Given the description of an element on the screen output the (x, y) to click on. 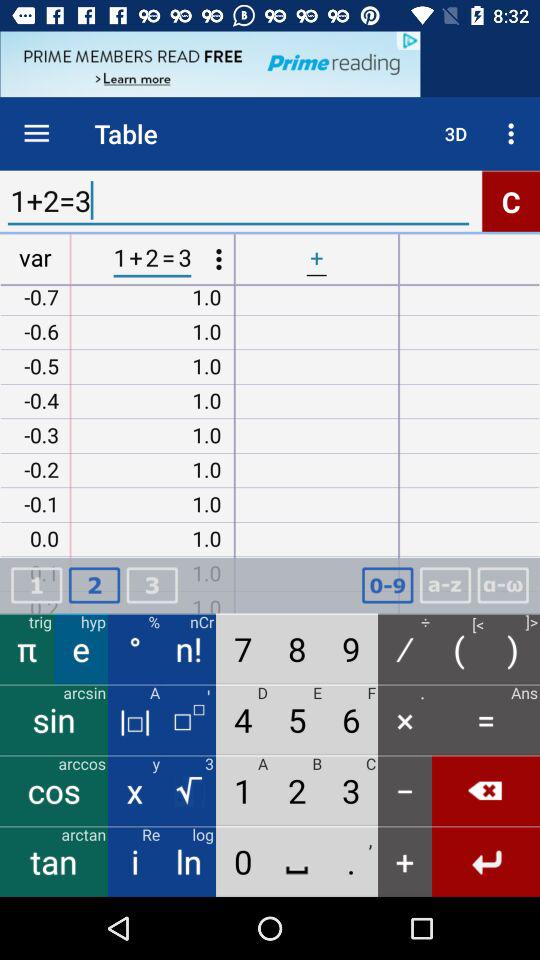
click to enter alphabet (445, 585)
